Given the description of an element on the screen output the (x, y) to click on. 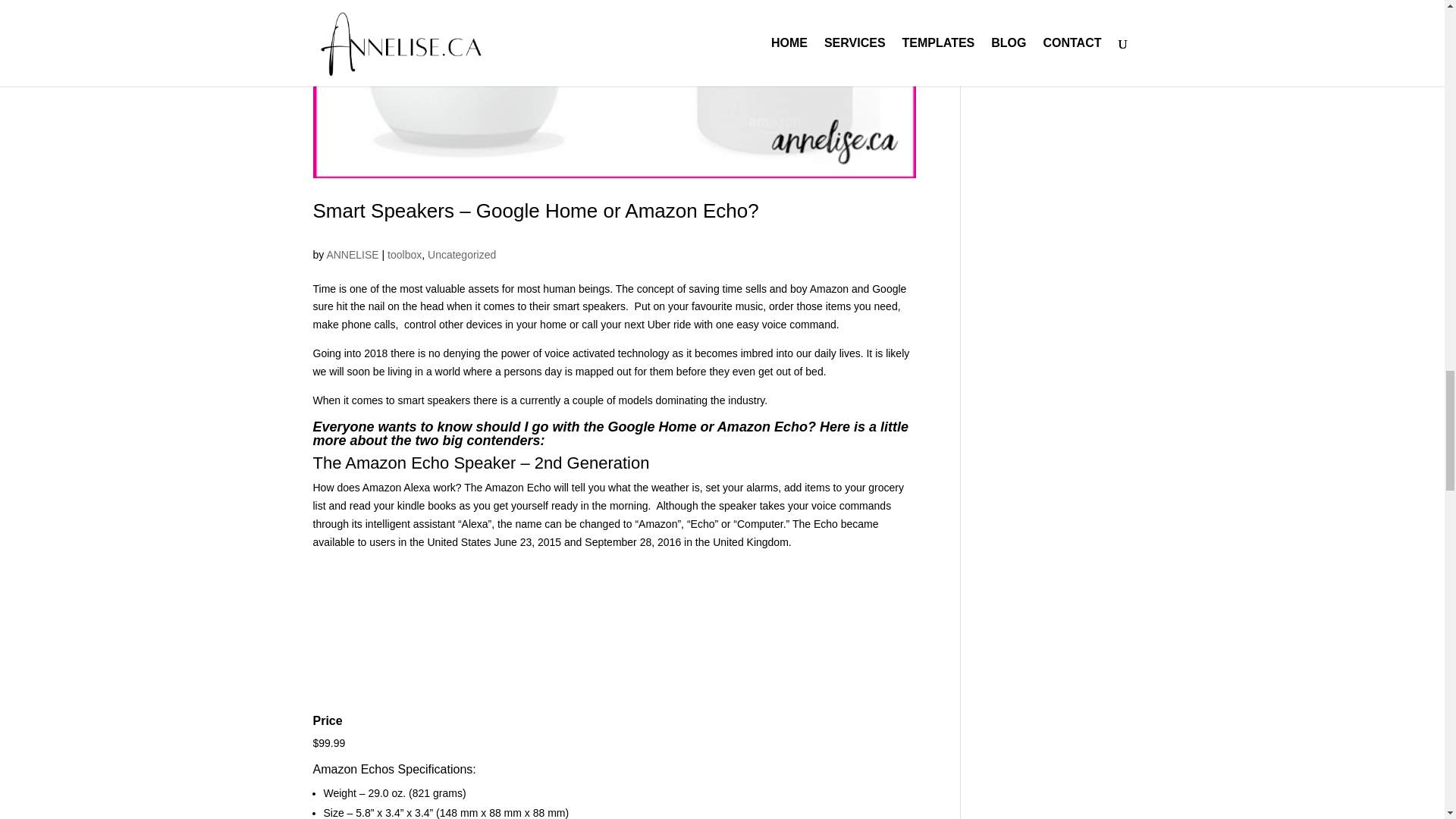
ANNELISE (352, 254)
Uncategorized (462, 254)
toolbox (404, 254)
Posts by ANNELISE (352, 254)
